Given the description of an element on the screen output the (x, y) to click on. 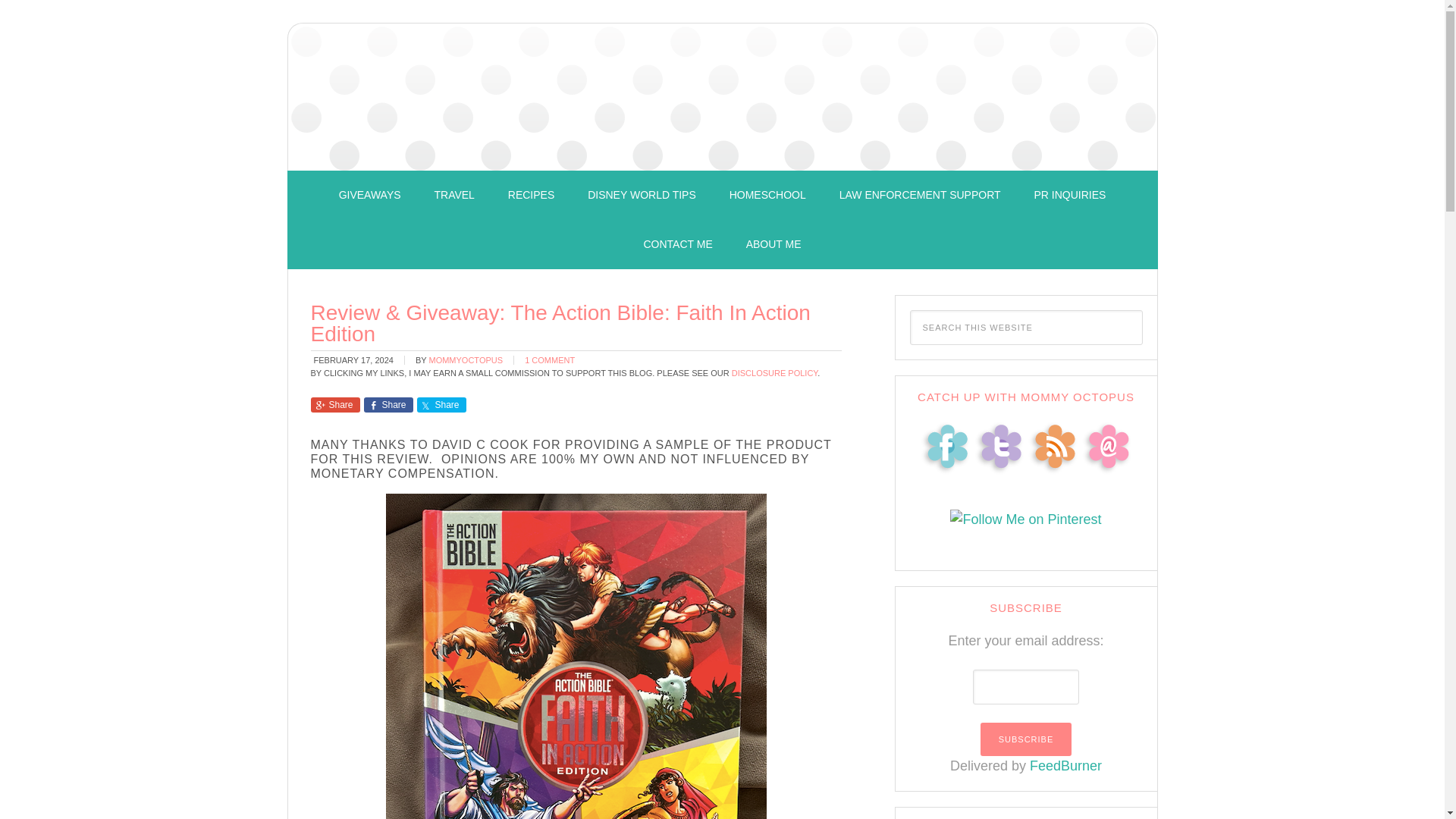
MOMMYOCTOPUS (465, 359)
RECIPES (531, 195)
ABOUT ME (773, 244)
CONTACT ME (676, 244)
HOMESCHOOL (767, 195)
DISCLOSURE POLICY (775, 372)
1 COMMENT (549, 359)
